Given the description of an element on the screen output the (x, y) to click on. 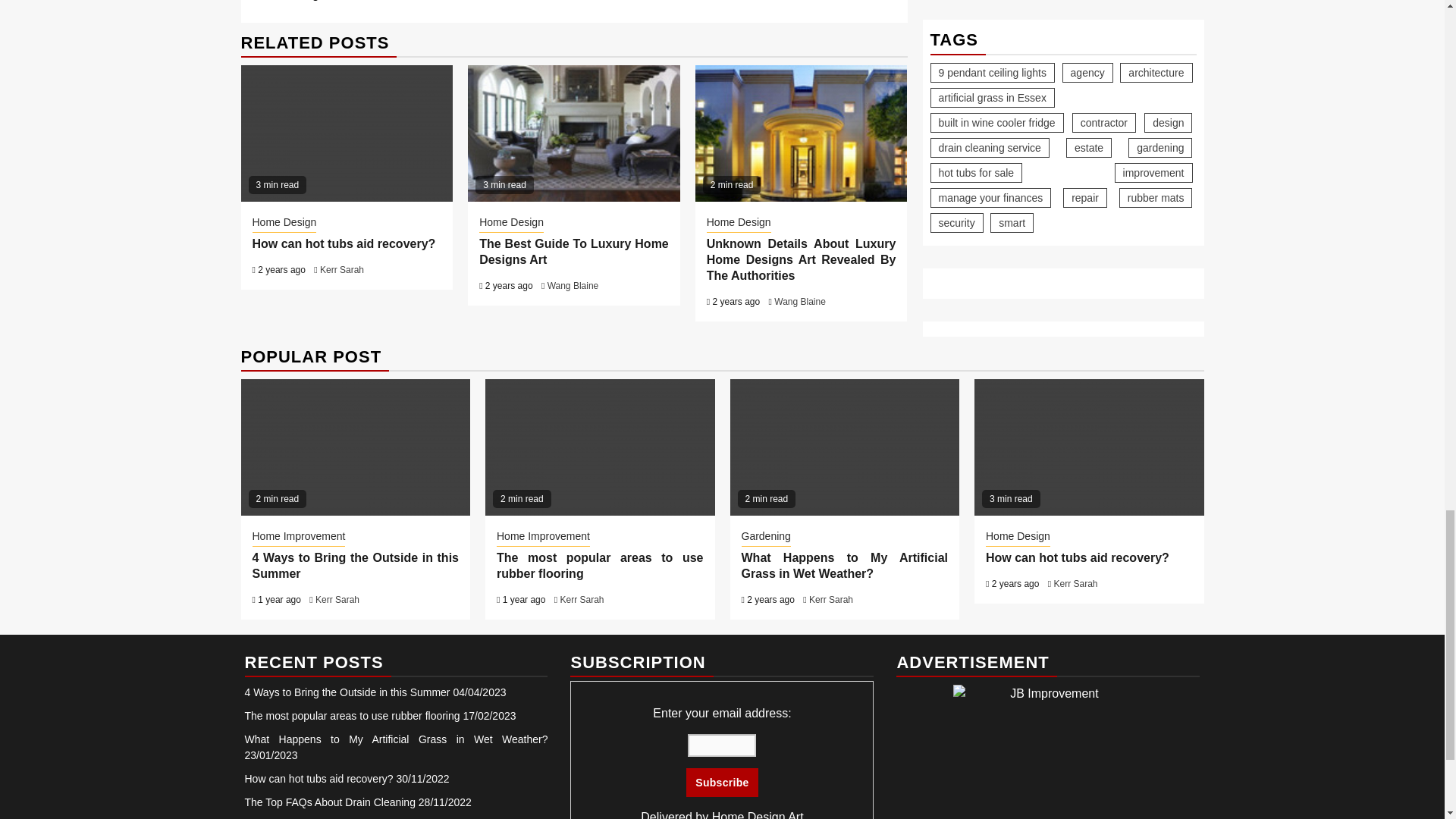
Home Design (738, 223)
Subscribe (721, 782)
The Best Guide To Luxury Home Designs Art (573, 251)
Wang Blaine (799, 301)
How can hot tubs aid recovery? (346, 133)
Kerr Sarah (342, 269)
Wang Blaine (572, 285)
The Best Guide To Luxury Home Designs Art (573, 133)
How can hot tubs aid recovery? (343, 243)
Home Design (511, 223)
Home Design (283, 223)
